Given the description of an element on the screen output the (x, y) to click on. 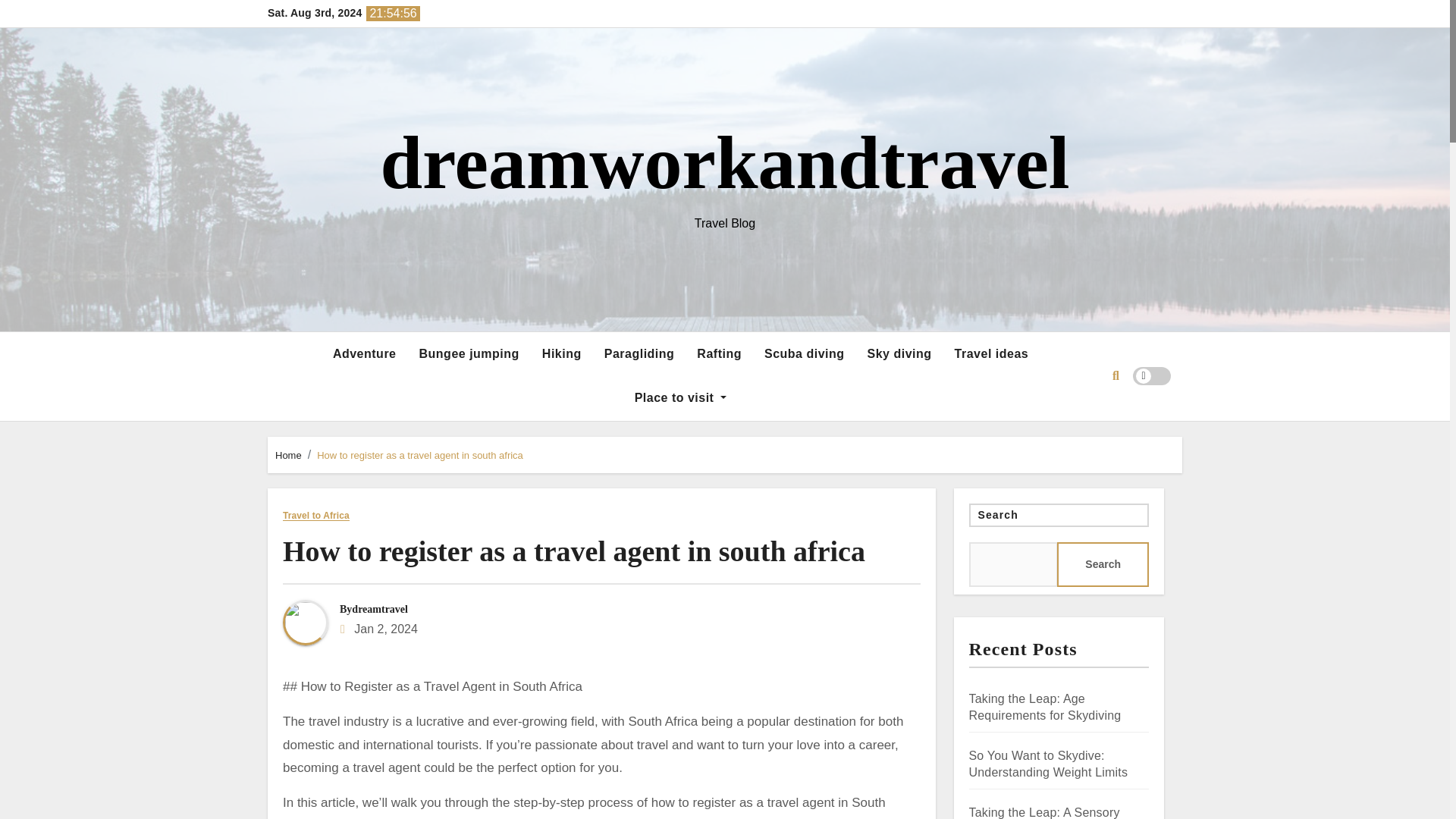
Bungee jumping (469, 353)
Home (288, 455)
Place to visit (680, 397)
Travel ideas (992, 353)
Paragliding (638, 353)
Paragliding (638, 353)
Adventure (364, 353)
How to register as a travel agent in south africa (419, 455)
Bungee jumping (469, 353)
Sky diving (899, 353)
